Given the description of an element on the screen output the (x, y) to click on. 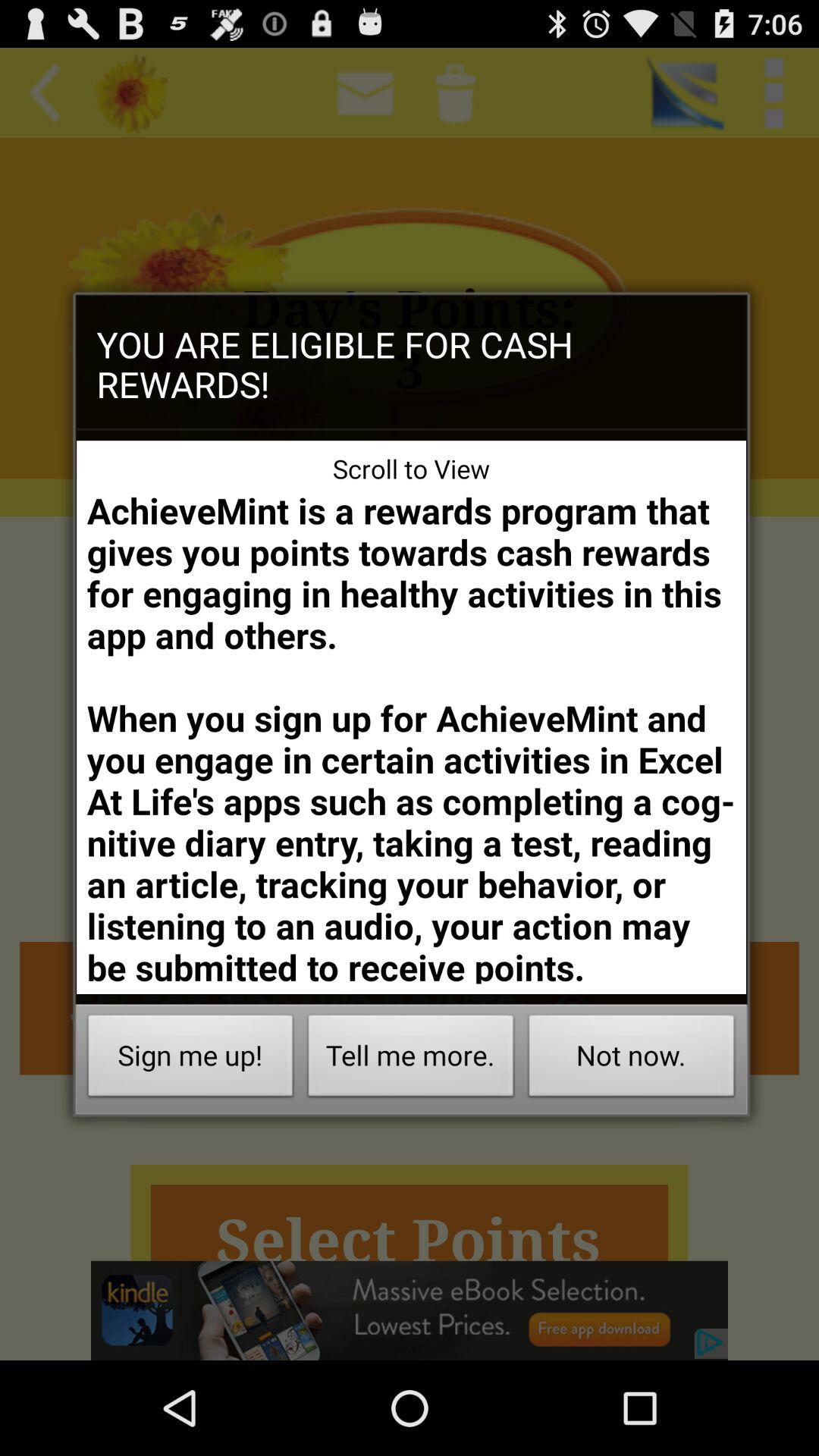
turn off the icon below achievemint is a icon (410, 1059)
